Given the description of an element on the screen output the (x, y) to click on. 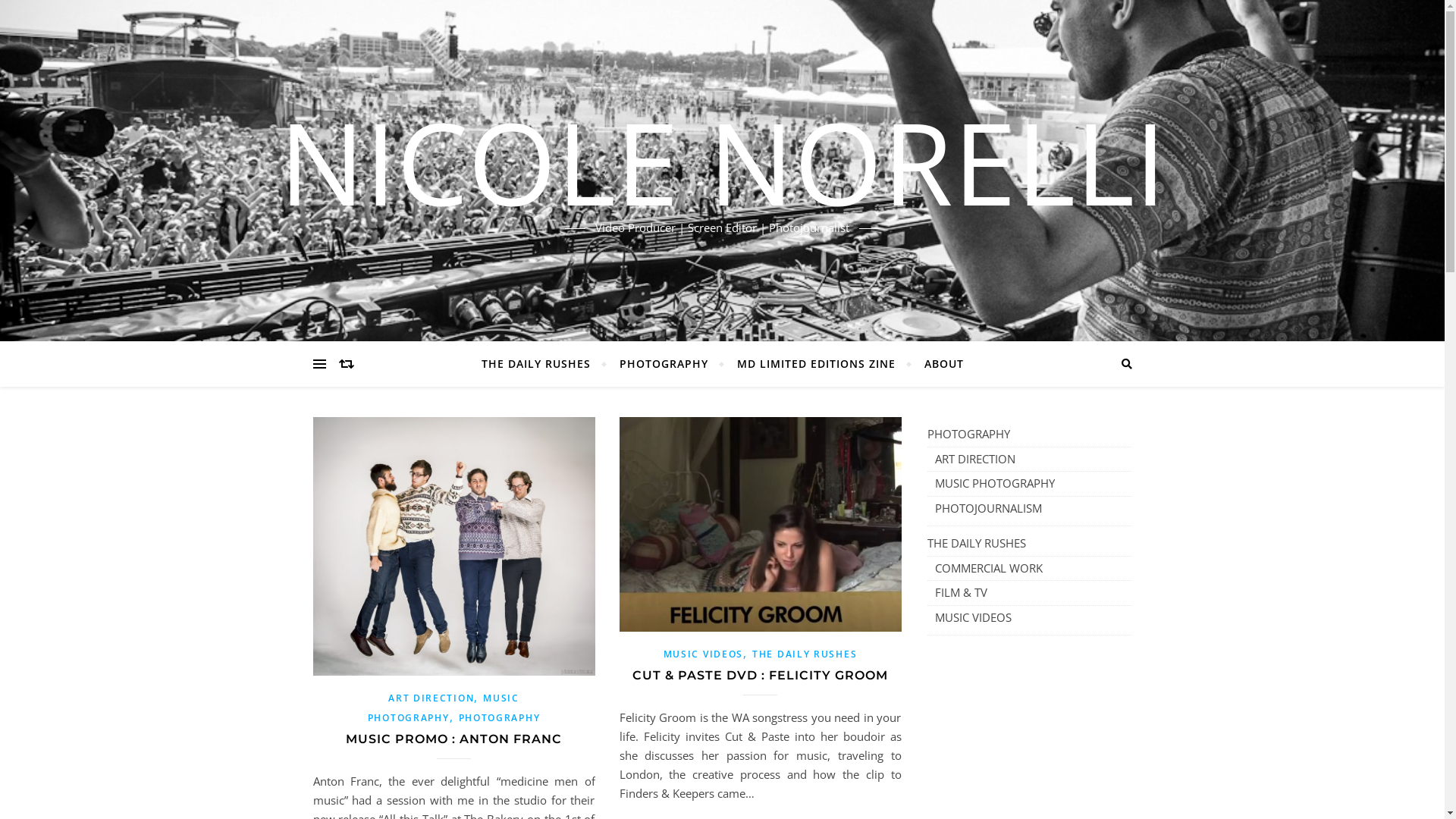
NICOLE NORELLI Element type: text (722, 161)
THE DAILY RUSHES Element type: text (541, 363)
MUSIC VIDEOS Element type: text (703, 653)
THE DAILY RUSHES Element type: text (975, 543)
MUSIC PROMO : ANTON FRANC Element type: text (453, 738)
ART DIRECTION Element type: text (974, 459)
MD LIMITED EDITIONS ZINE Element type: text (815, 363)
PHOTOGRAPHY Element type: text (967, 434)
ART DIRECTION Element type: text (430, 697)
CUT & PASTE DVD : FELICITY GROOM Element type: text (760, 675)
MUSIC PHOTOGRAPHY Element type: text (443, 707)
MUSIC VIDEOS Element type: text (972, 617)
ABOUT Element type: text (937, 363)
THE DAILY RUSHES Element type: text (804, 653)
PHOTOGRAPHY Element type: text (663, 363)
FILM & TV Element type: text (960, 592)
COMMERCIAL WORK Element type: text (987, 568)
PHOTOJOURNALISM Element type: text (987, 507)
MUSIC PHOTOGRAPHY Element type: text (994, 483)
PHOTOGRAPHY Element type: text (498, 717)
